Given the description of an element on the screen output the (x, y) to click on. 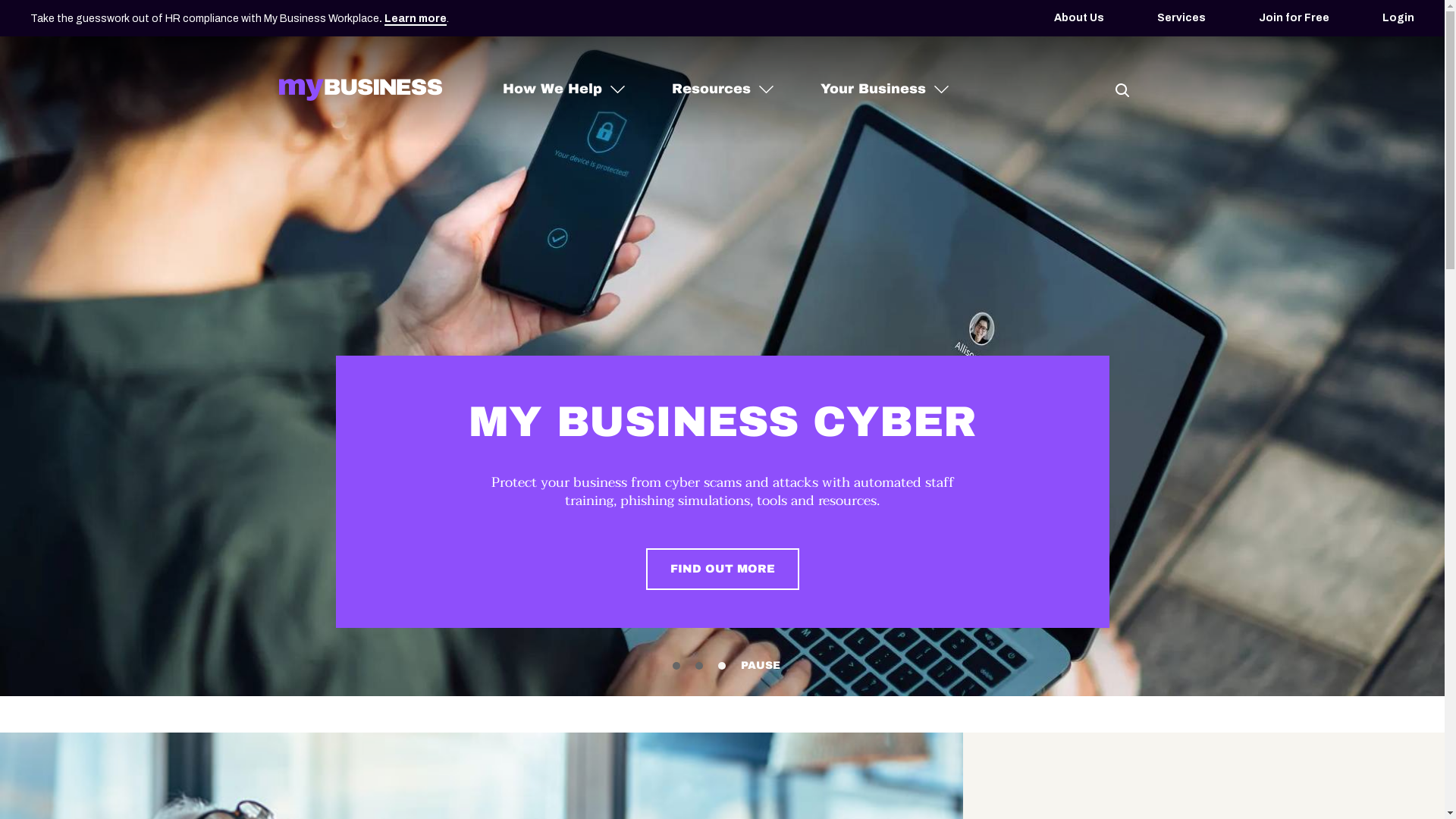
PAUSE Element type: text (759, 665)
Services Element type: text (1181, 17)
About Us Element type: text (1079, 17)
FIND OUT MORE Element type: text (722, 568)
Learn more Element type: text (415, 18)
Join for Free Element type: text (1293, 17)
Login Element type: text (1398, 17)
